Given the description of an element on the screen output the (x, y) to click on. 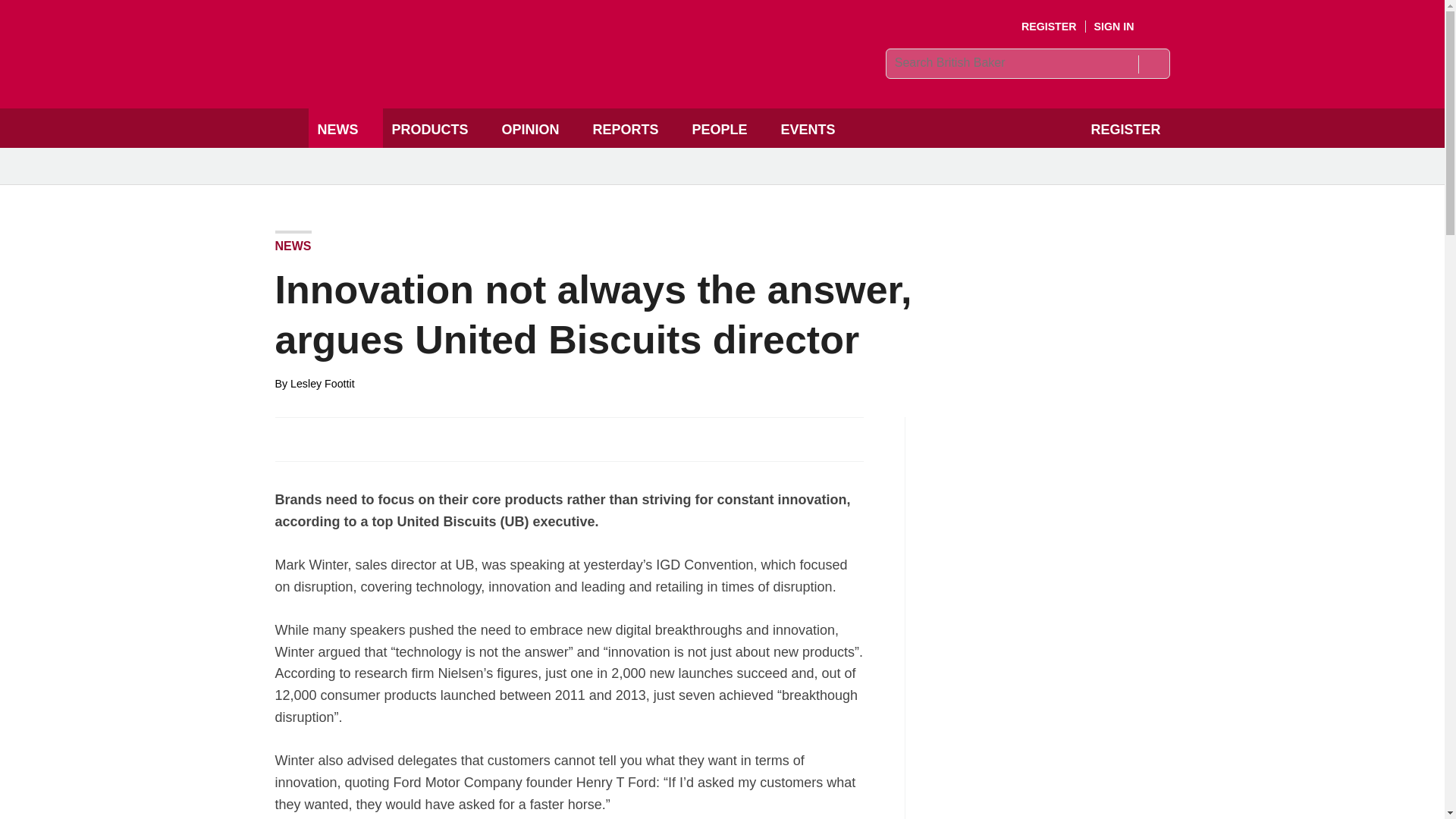
Email this article (386, 438)
Share this on Linked in (352, 438)
SIGN IN (1125, 26)
Site name (484, 76)
Share this on Facebook (288, 438)
Share this on Twitter (320, 438)
SEARCH (1153, 63)
No comments (840, 447)
REGISTER (1049, 26)
